Given the description of an element on the screen output the (x, y) to click on. 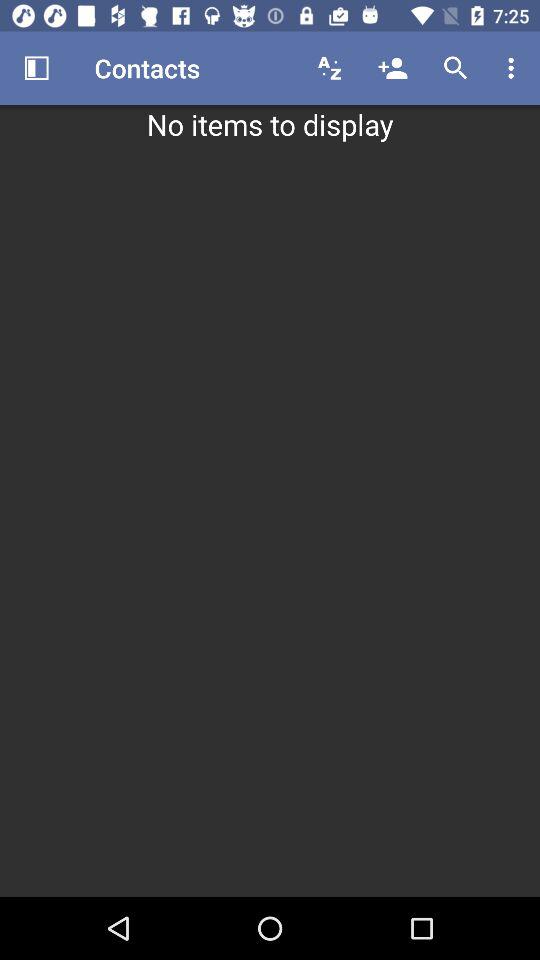
select icon above no items to icon (392, 67)
